Given the description of an element on the screen output the (x, y) to click on. 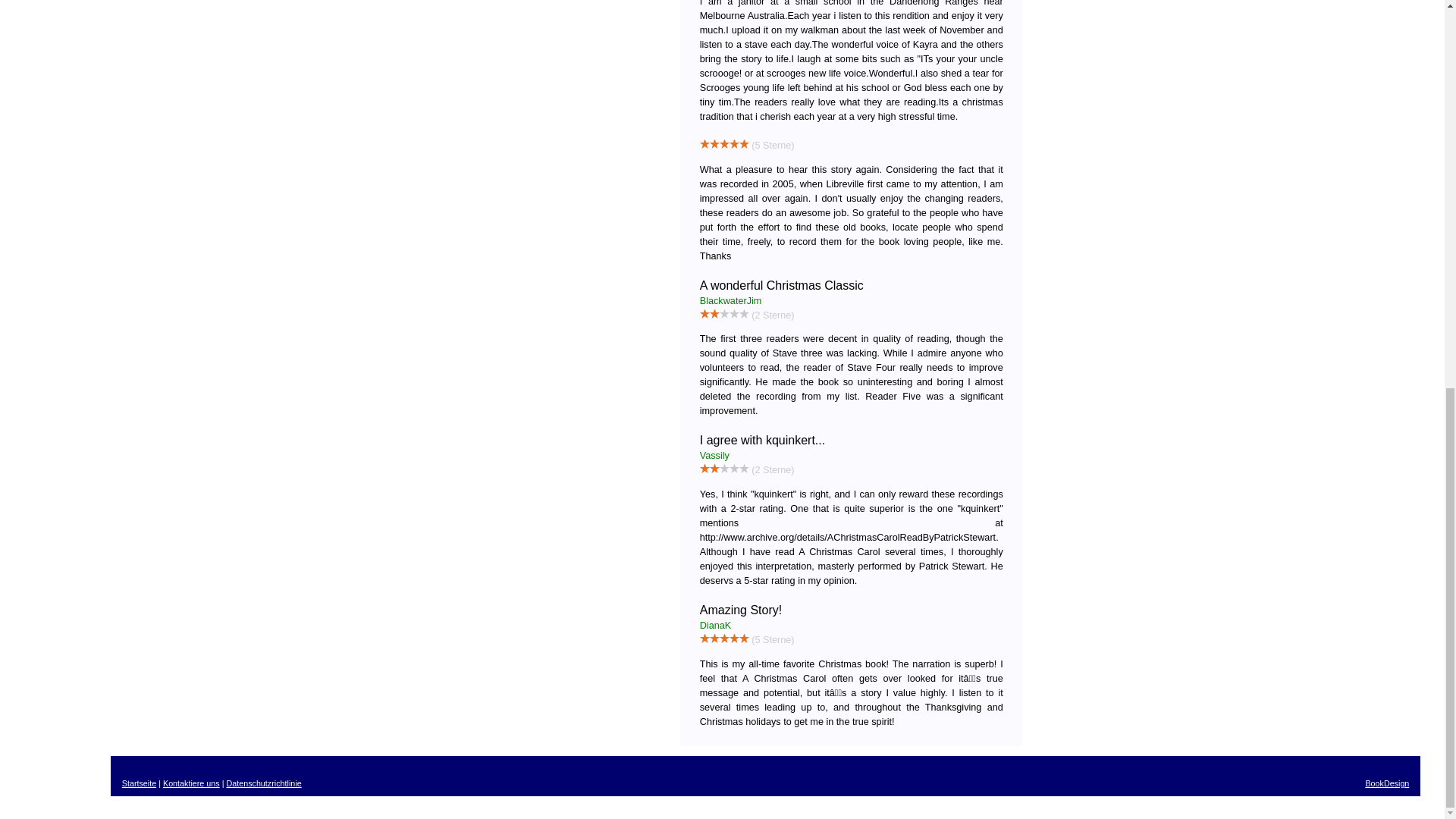
Kontaktiere uns (191, 782)
Startseite (138, 782)
BookDesign (1387, 782)
BookDesign (1387, 782)
Datenschutzrichtlinie (263, 782)
